Given the description of an element on the screen output the (x, y) to click on. 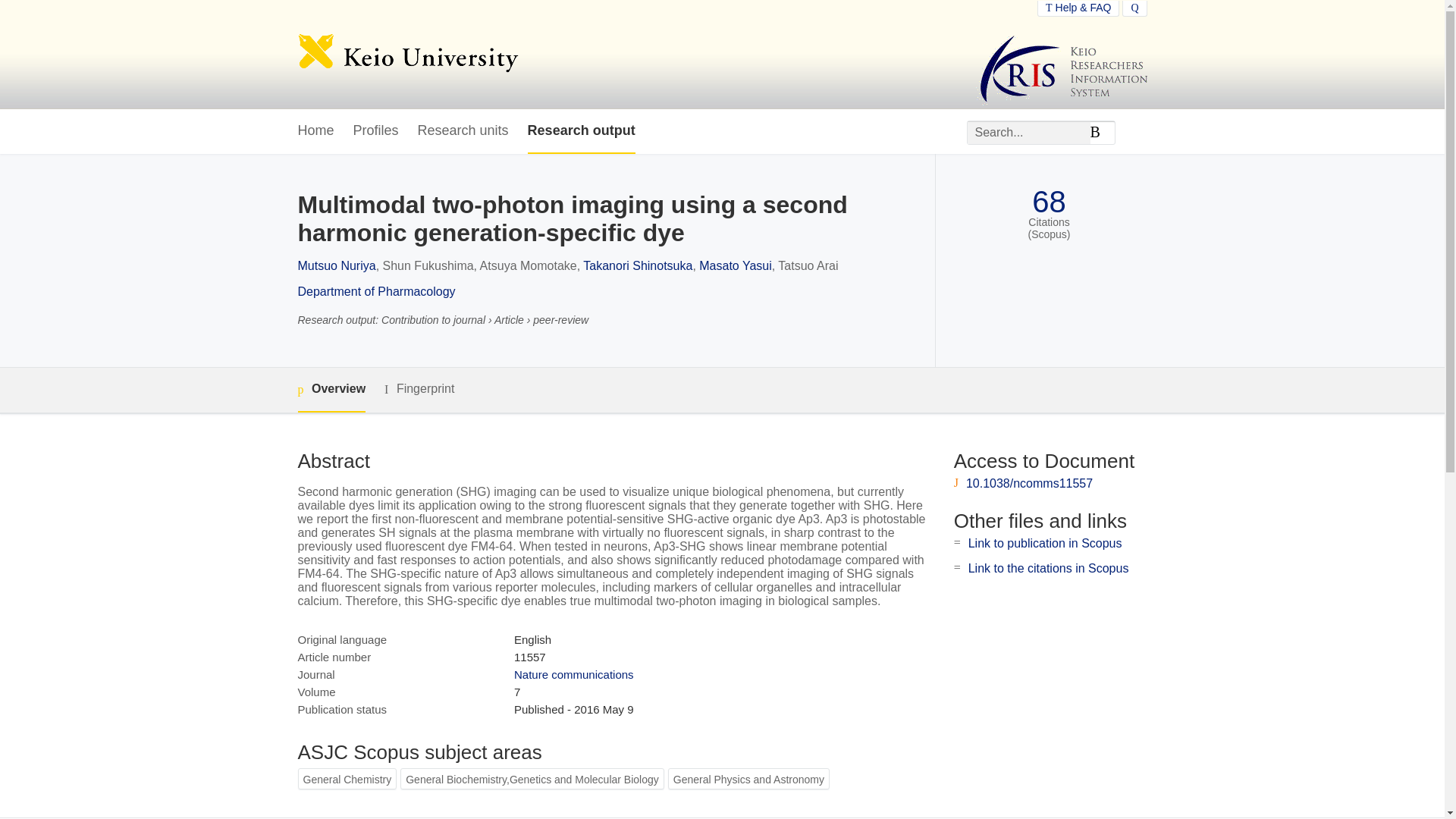
Link to publication in Scopus (1045, 543)
68 (1048, 202)
Department of Pharmacology (375, 291)
Takanori Shinotsuka (638, 265)
Research units (462, 130)
Masato Yasui (734, 265)
Fingerprint (419, 389)
Home (315, 130)
Mutsuo Nuriya (336, 265)
Nature communications (573, 674)
Keio University Home (407, 54)
Research output (580, 130)
Overview (331, 389)
Profiles (375, 130)
